Given the description of an element on the screen output the (x, y) to click on. 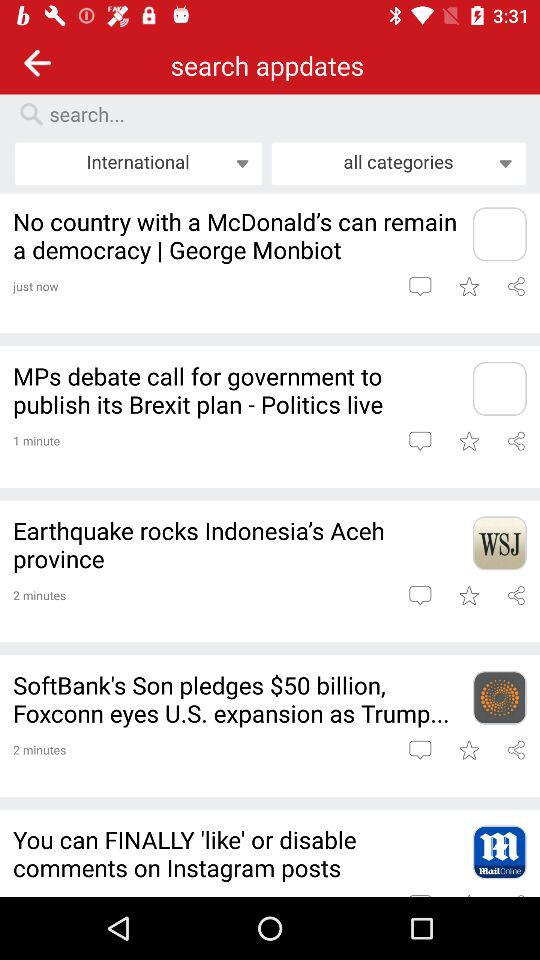
leave comment (419, 595)
